Given the description of an element on the screen output the (x, y) to click on. 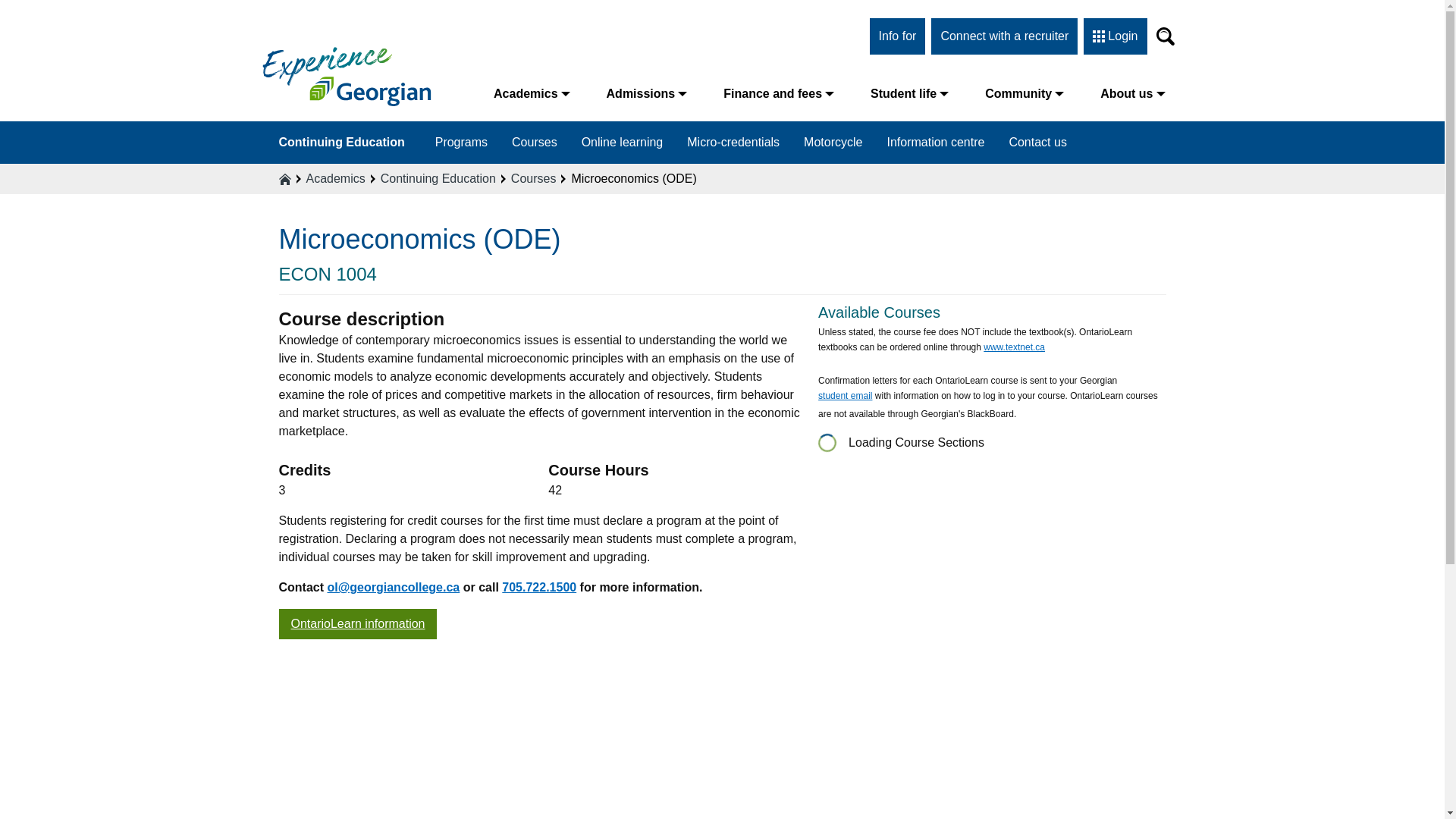
Academics (532, 93)
Textnet (1014, 348)
OntarioLearn (358, 624)
About us (1131, 93)
Admissions (647, 93)
Finance and fees (777, 93)
Community (1023, 93)
Student life (908, 93)
Info for (897, 36)
Georgian College Student Email (845, 397)
Academics (532, 93)
Georgian College (345, 75)
Georgian College (345, 75)
Connect with a recruiter (1004, 36)
